Given the description of an element on the screen output the (x, y) to click on. 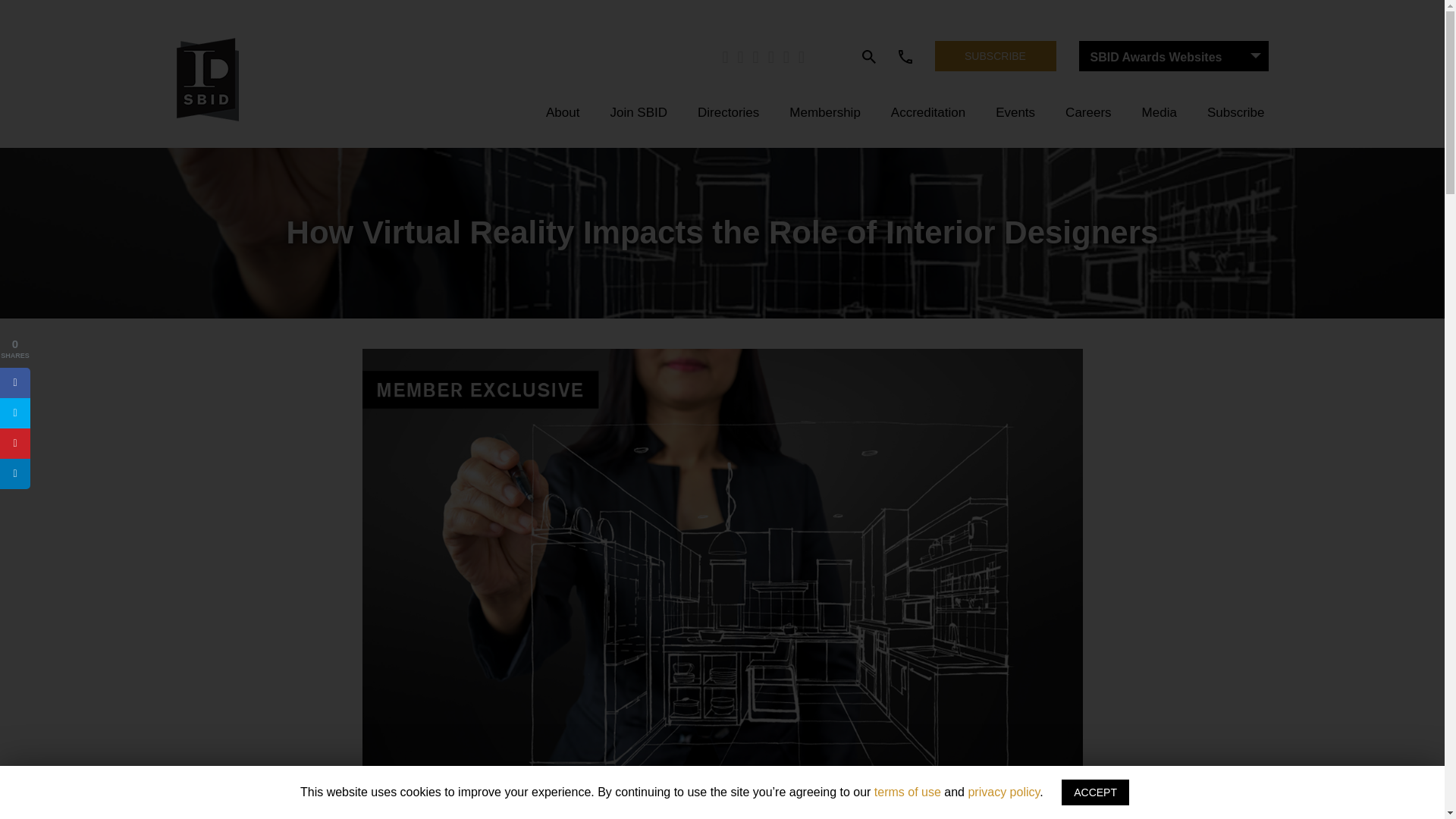
Directories (728, 111)
Accreditation (927, 111)
About (562, 111)
Join SBID (638, 111)
Membership (825, 111)
Directories (728, 111)
Membership (825, 111)
Join SBID (638, 111)
About (562, 111)
SUBSCRIBE (994, 55)
